Given the description of an element on the screen output the (x, y) to click on. 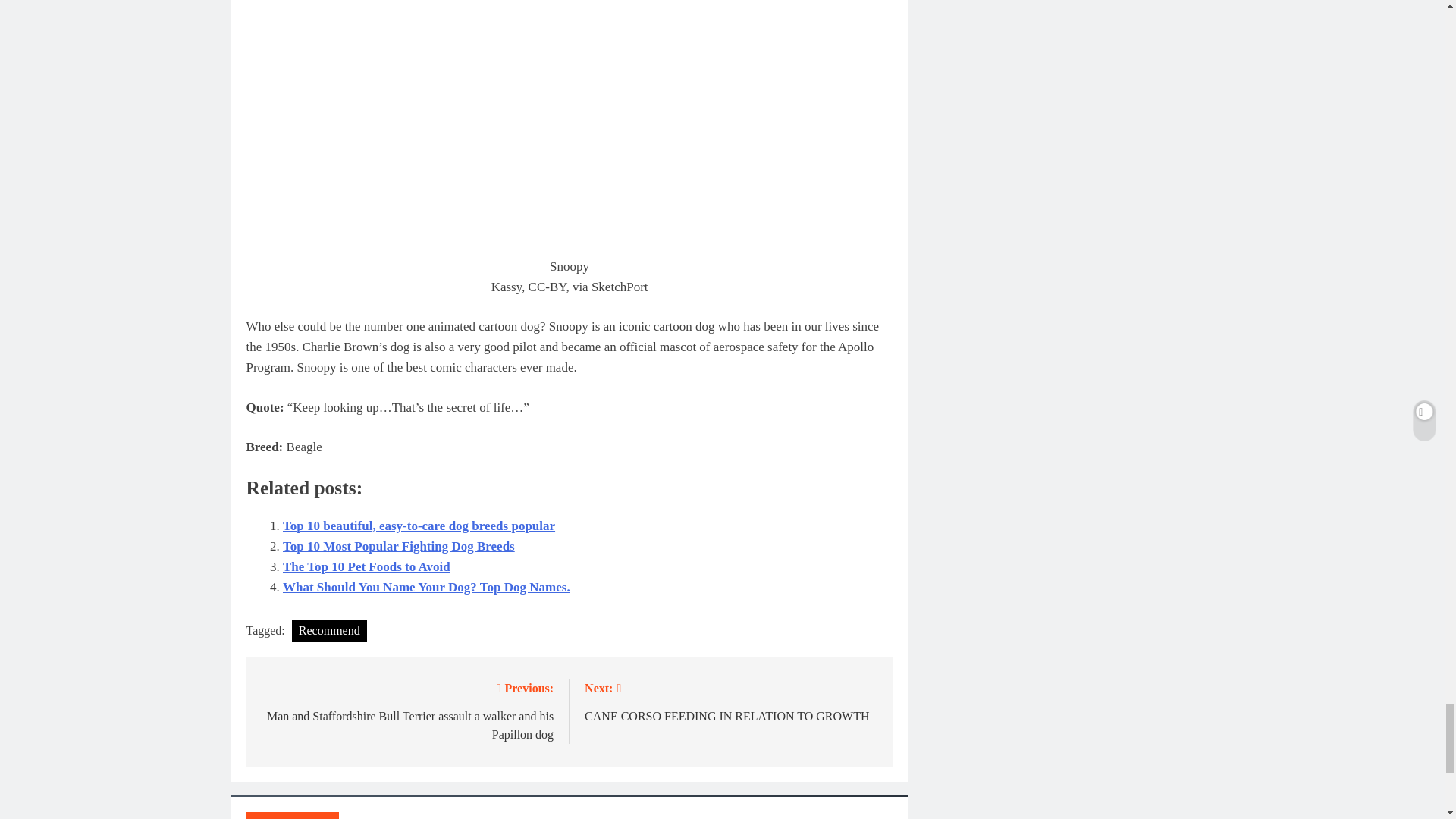
Top 10 beautiful, easy-to-care dog breeds popular (418, 525)
What Should You Name Your Dog? Top Dog Names. (426, 586)
The Top 10 Pet Foods to Avoid (365, 566)
Recommend (329, 630)
Top 10 Most Popular Fighting Dog Breeds (731, 700)
Top 10 Most Popular Fighting Dog Breeds (398, 545)
Top 10 beautiful, easy-to-care dog breeds popular (398, 545)
The Top 10 Pet Foods to Avoid (418, 525)
What Should You Name Your Dog? Top Dog Names. (365, 566)
